Given the description of an element on the screen output the (x, y) to click on. 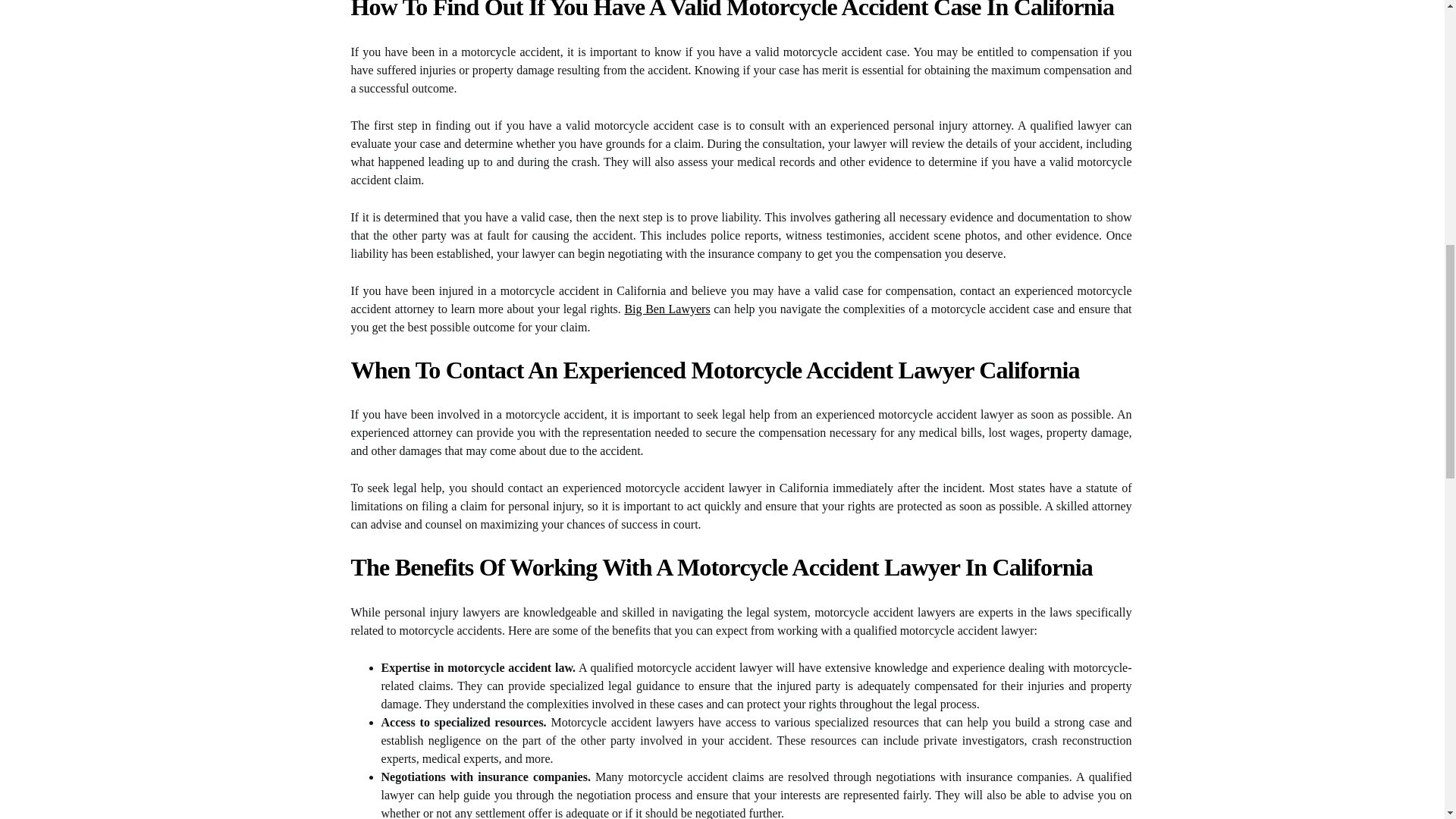
Big Ben Lawyers (667, 308)
